Given the description of an element on the screen output the (x, y) to click on. 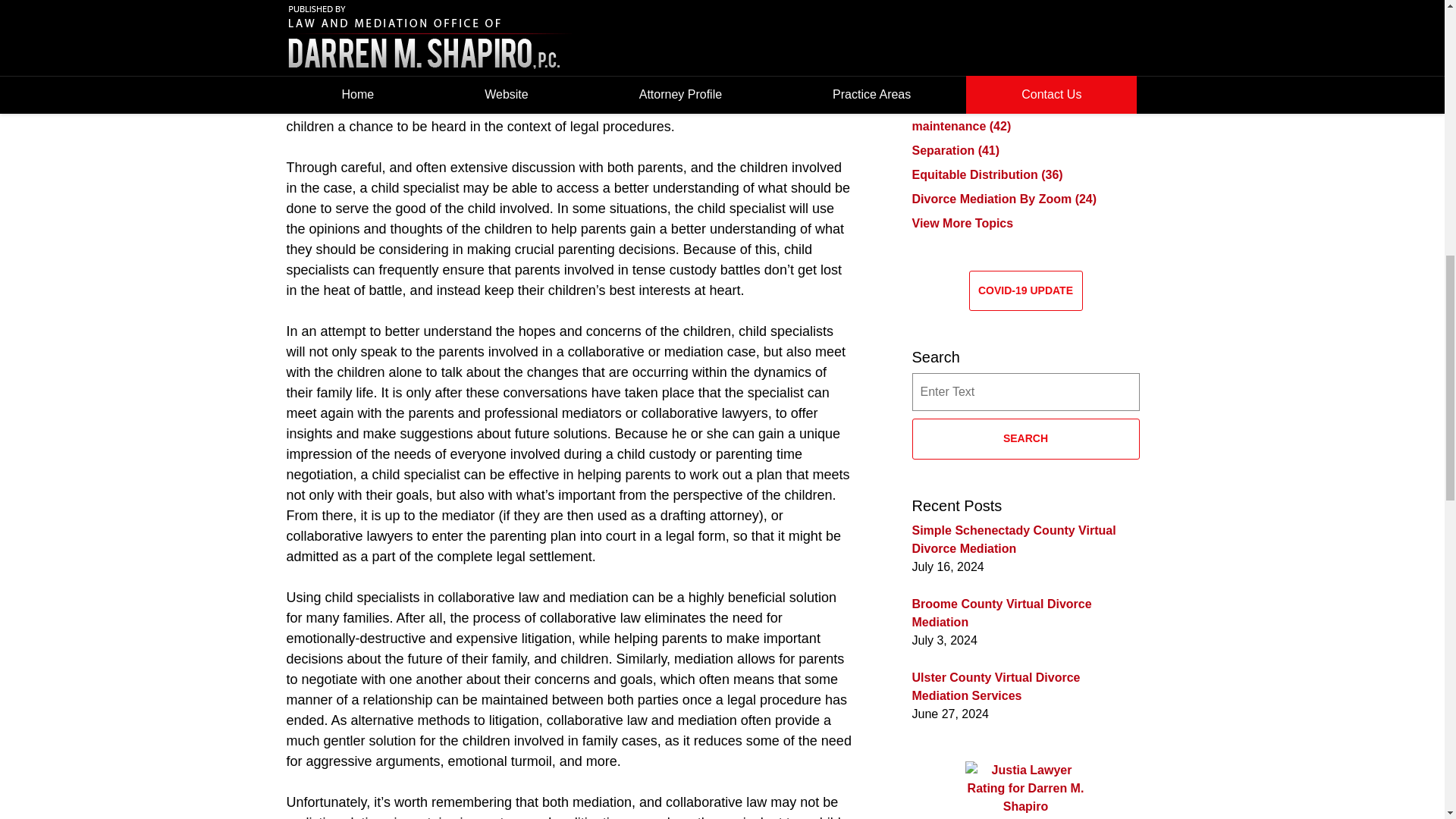
View More Topics (962, 223)
